Given the description of an element on the screen output the (x, y) to click on. 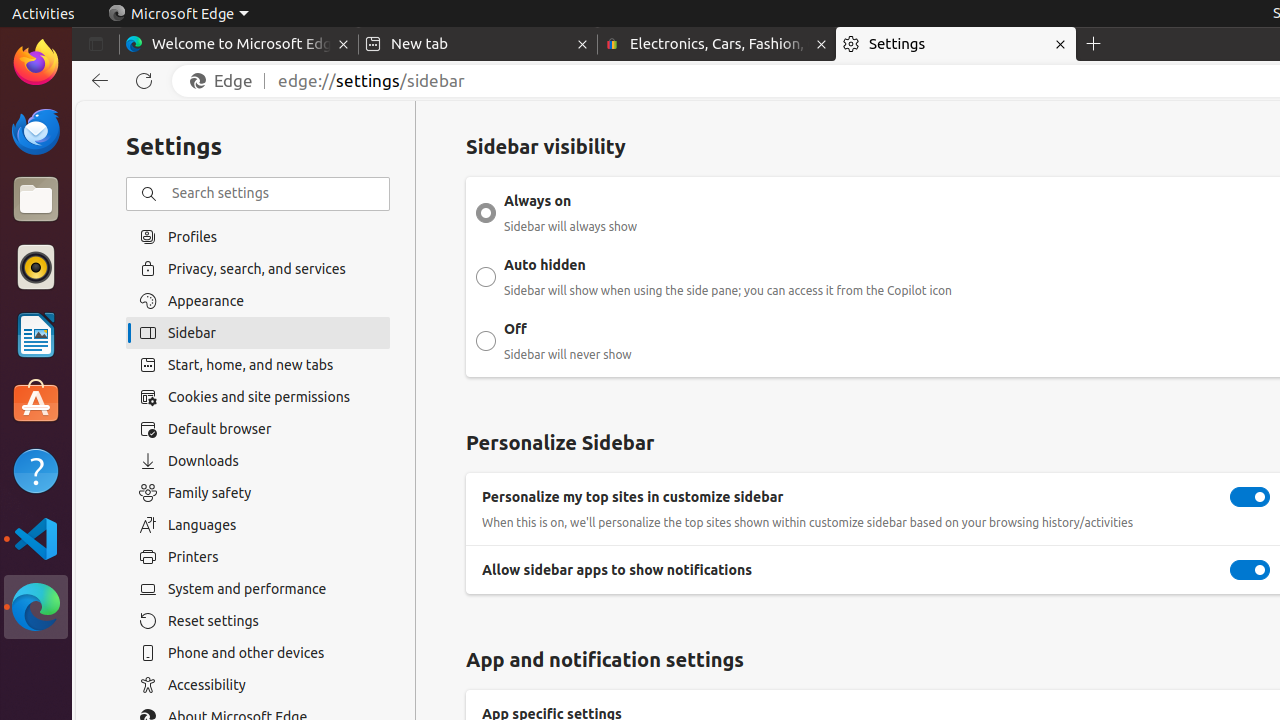
Profiles Element type: tree-item (258, 236)
Close tab Element type: push-button (343, 44)
Settings Element type: page-tab (956, 44)
New tab Element type: page-tab (478, 44)
Microsoft Edge Element type: push-button (36, 607)
